Given the description of an element on the screen output the (x, y) to click on. 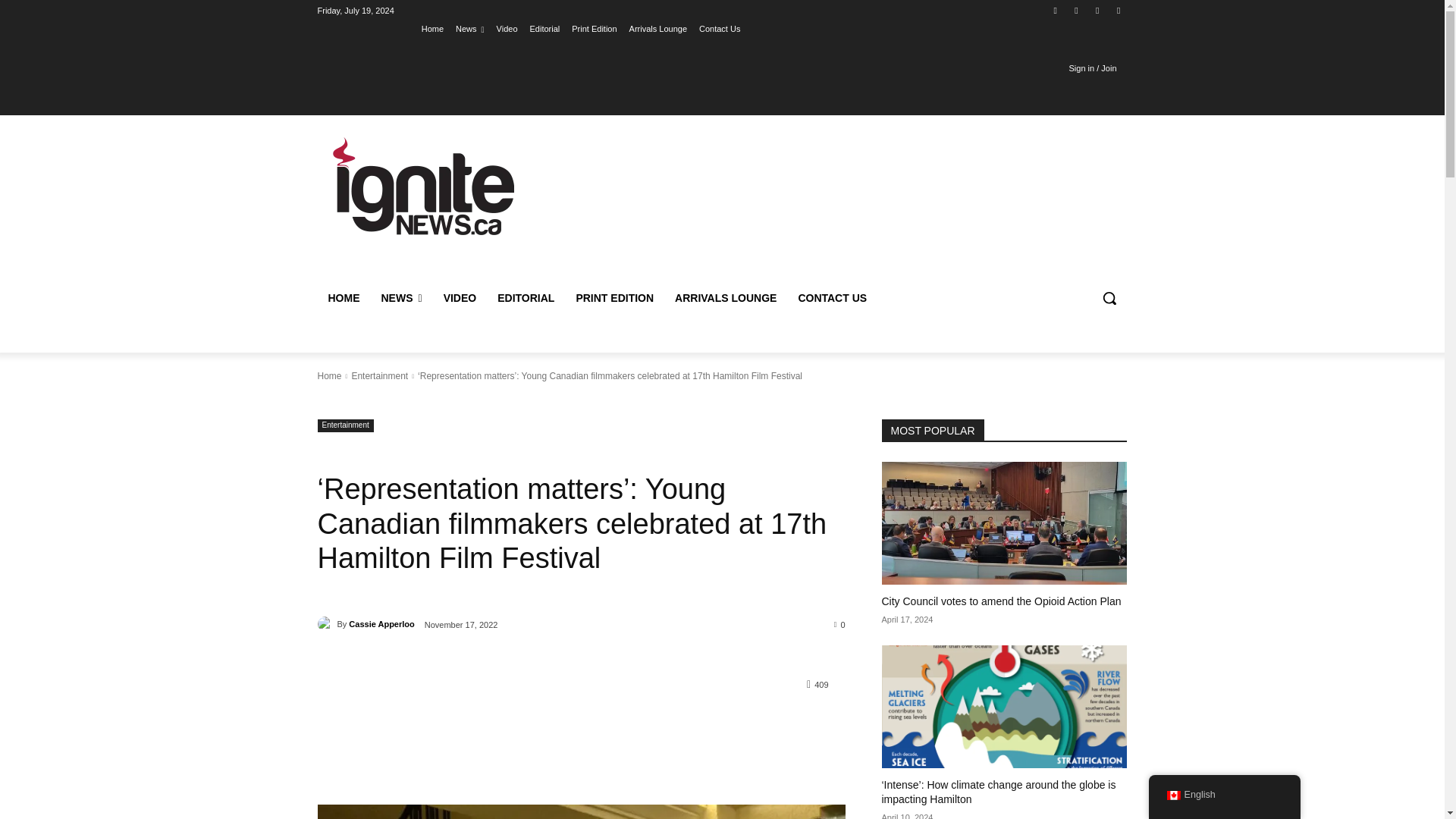
Home (433, 28)
Youtube (1117, 9)
Editorial (544, 28)
Instagram (1055, 9)
View all posts in Entertainment (378, 376)
Print Edition (593, 28)
Arrivals Lounge (657, 28)
Video (507, 28)
HOME (343, 298)
HFF1 (580, 811)
Cassie Apperloo (326, 623)
NEWS (400, 298)
Twitter (1097, 9)
Soundcloud (1075, 9)
Contact Us (718, 28)
